Given the description of an element on the screen output the (x, y) to click on. 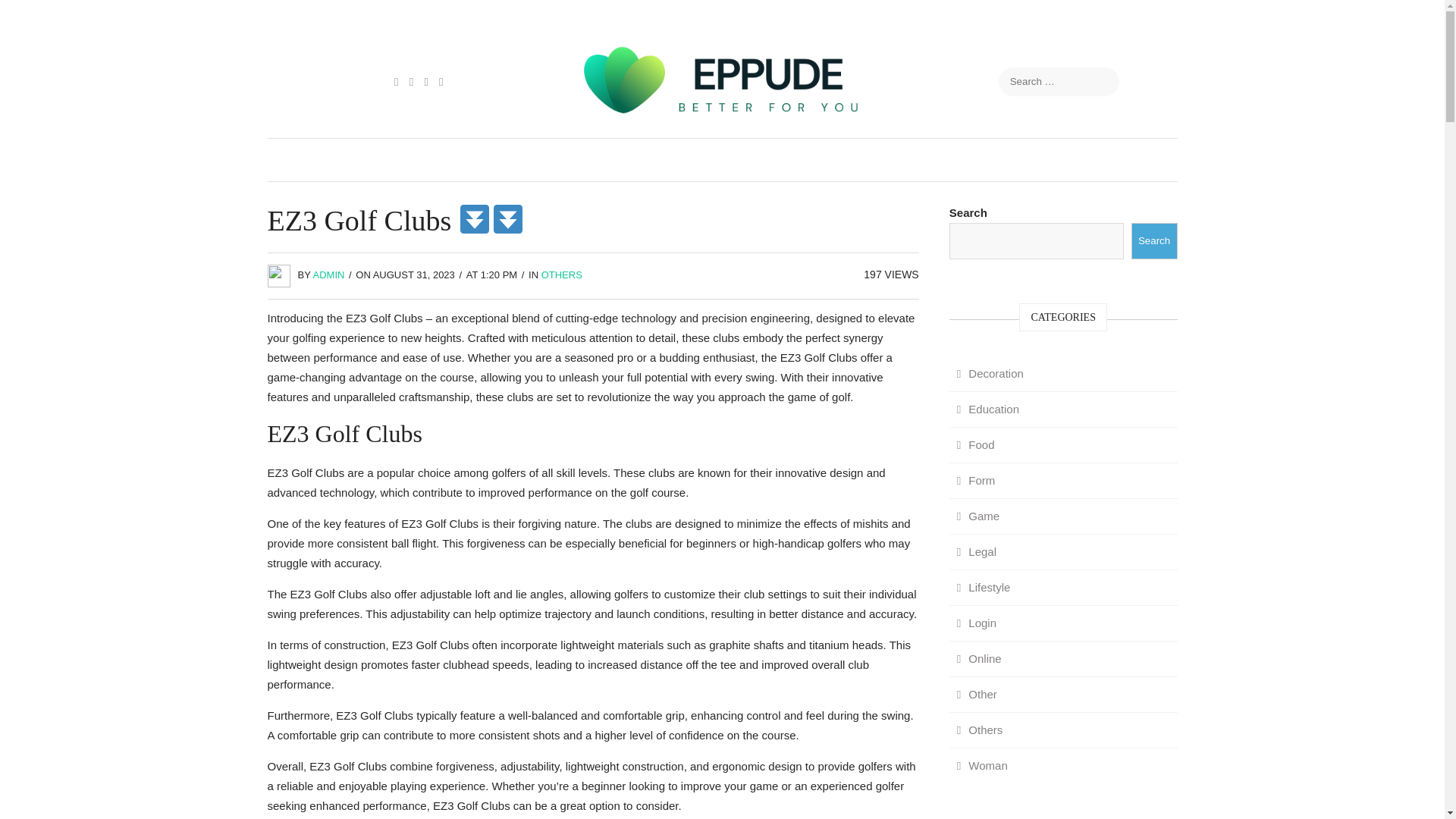
WOMAN (1087, 159)
Food (976, 444)
EDUCATION (367, 159)
Posts by admin (329, 274)
LIFESTYLE (852, 159)
ADMIN (329, 274)
Game (978, 515)
Search (1154, 240)
OTHERS (561, 274)
Legal (976, 551)
